Given the description of an element on the screen output the (x, y) to click on. 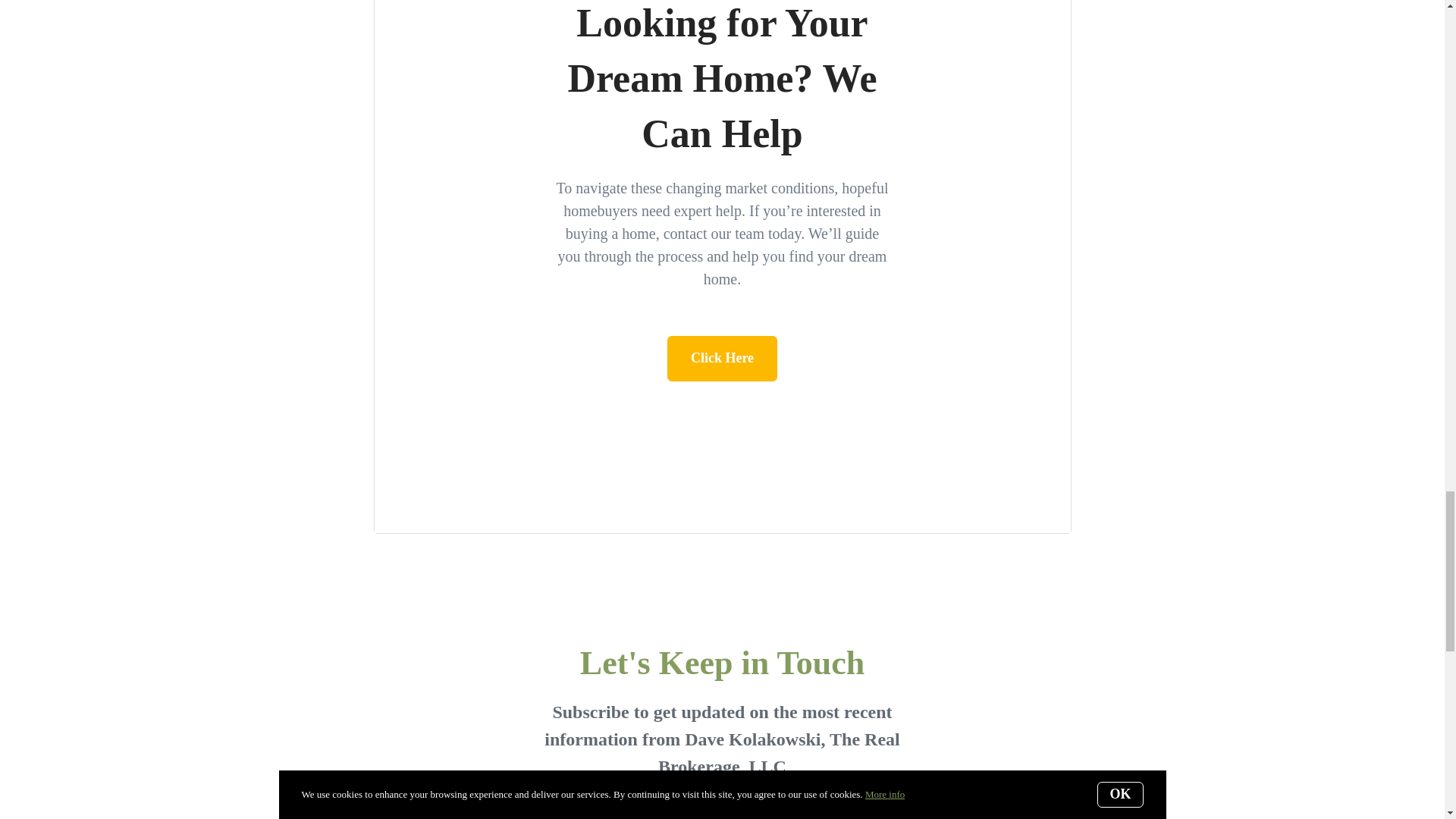
Click Here (721, 358)
